Given the description of an element on the screen output the (x, y) to click on. 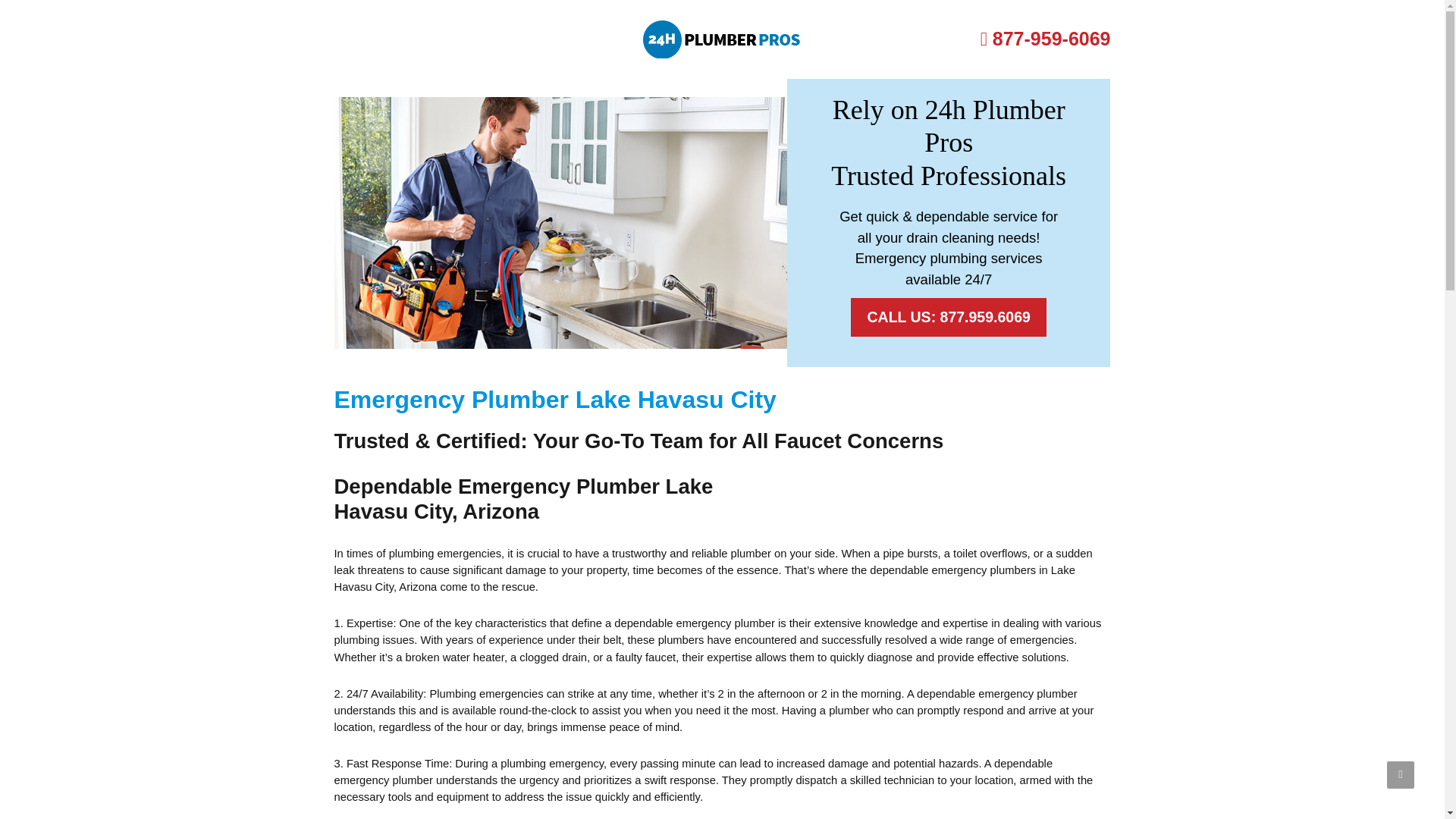
CALL US: 877.959.6069 (947, 317)
877-959-6069 (1044, 38)
Call Us Now (1044, 38)
Back To Top (1400, 774)
24H Plumber Pros (722, 39)
